Given the description of an element on the screen output the (x, y) to click on. 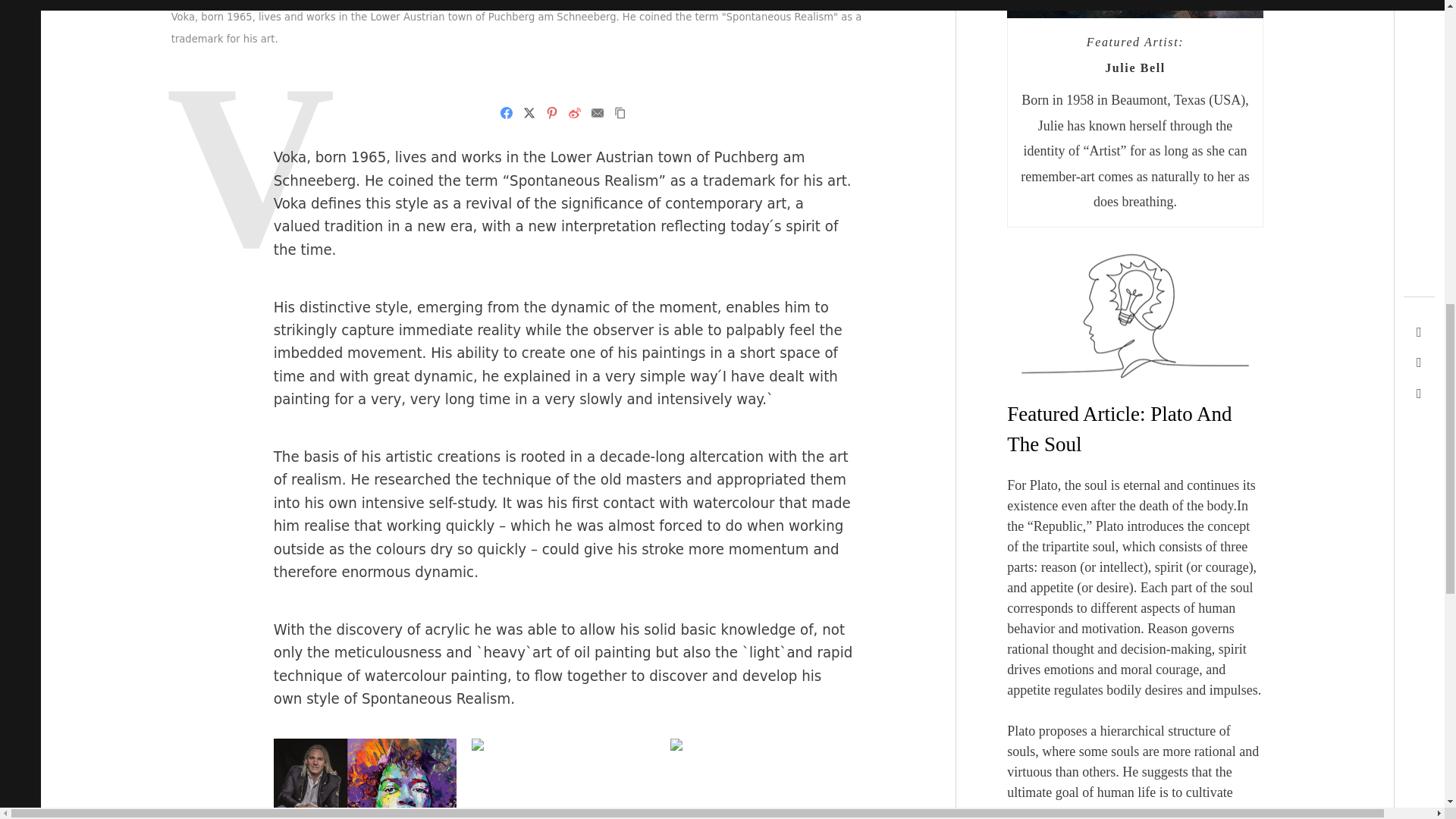
Julie Bell (1135, 67)
Share on Copy Link (619, 112)
Share on Pinterest (551, 112)
Share on Weibo (574, 112)
Share on Email (597, 112)
Share on Twitter (529, 112)
Plato And The Soul (1119, 429)
Share on Facebook (506, 112)
